Given the description of an element on the screen output the (x, y) to click on. 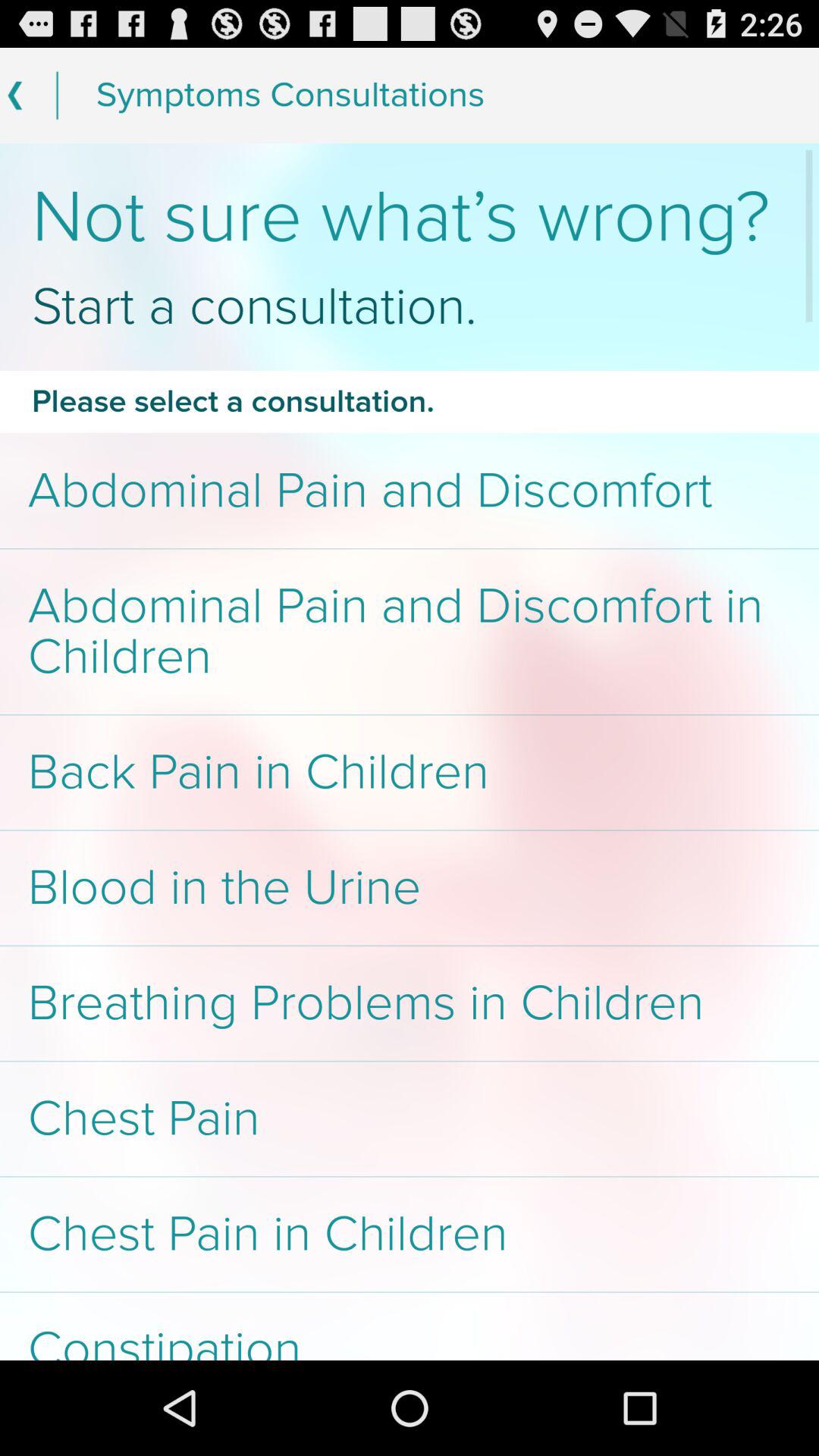
scroll until the constipation (409, 1326)
